Given the description of an element on the screen output the (x, y) to click on. 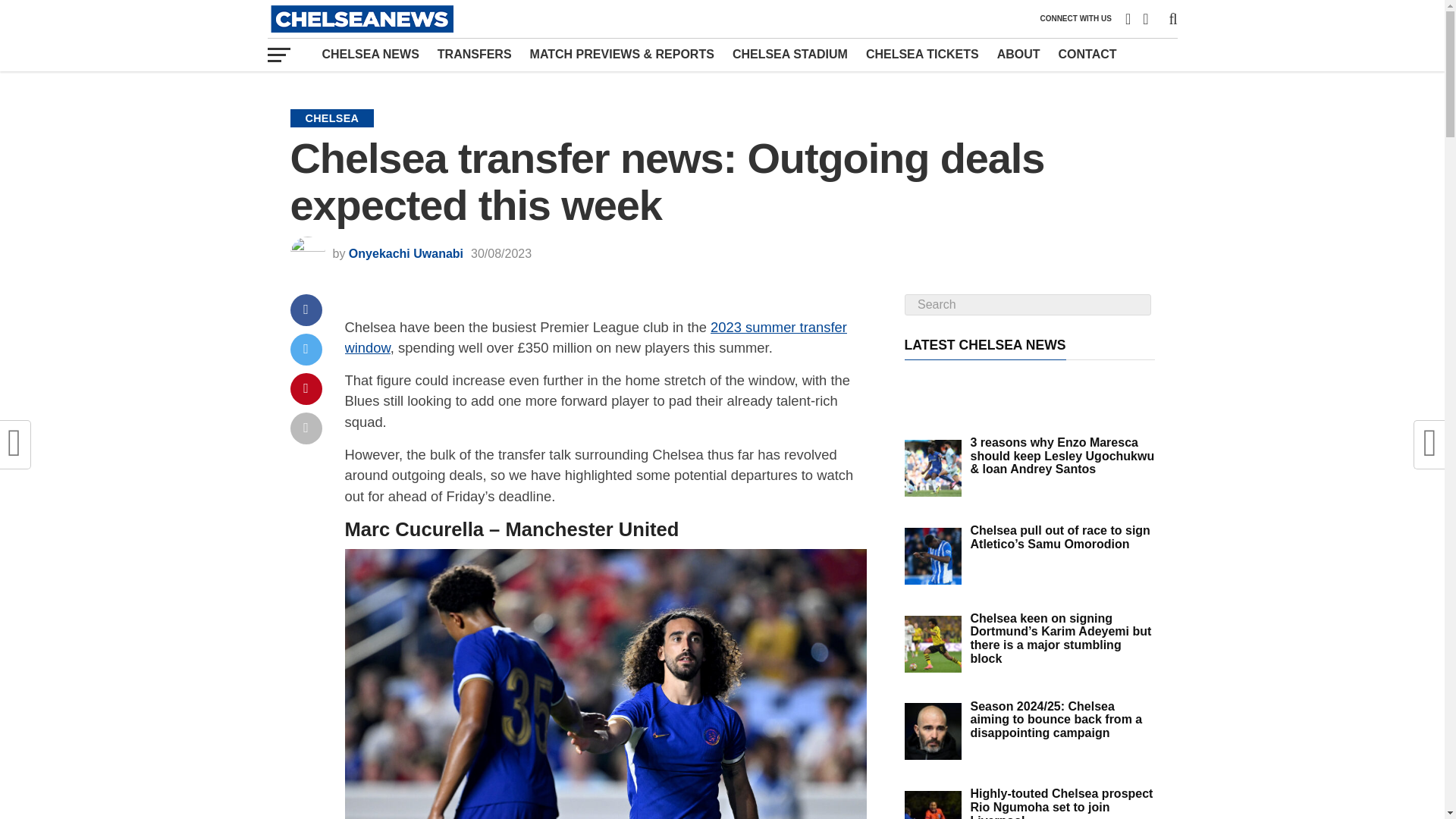
CONTACT (1087, 54)
TRANSFERS (474, 54)
ABOUT (1018, 54)
Onyekachi Uwanabi (406, 253)
2023 summer transfer window (594, 337)
Posts by Onyekachi Uwanabi (406, 253)
CHELSEA STADIUM (790, 54)
CHELSEA TICKETS (922, 54)
CHELSEA NEWS (370, 54)
Search (1027, 304)
